Given the description of an element on the screen output the (x, y) to click on. 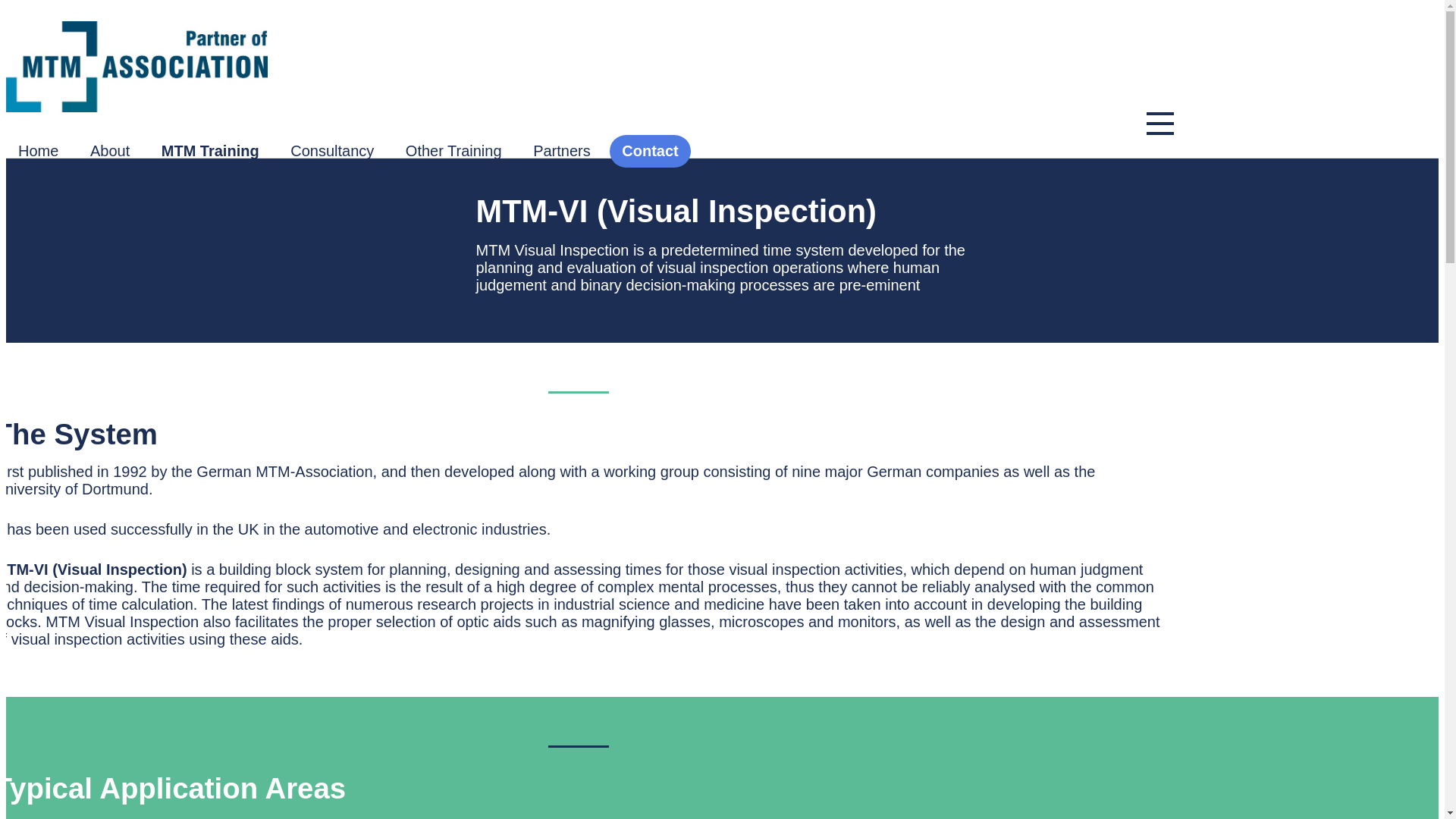
MTM Training (209, 151)
Home (37, 151)
Contact (650, 151)
Partners (561, 151)
Go to the MTM home page (589, 66)
About (109, 151)
Skip to content (55, 13)
Consultancy (331, 151)
Other Training (453, 151)
